Given the description of an element on the screen output the (x, y) to click on. 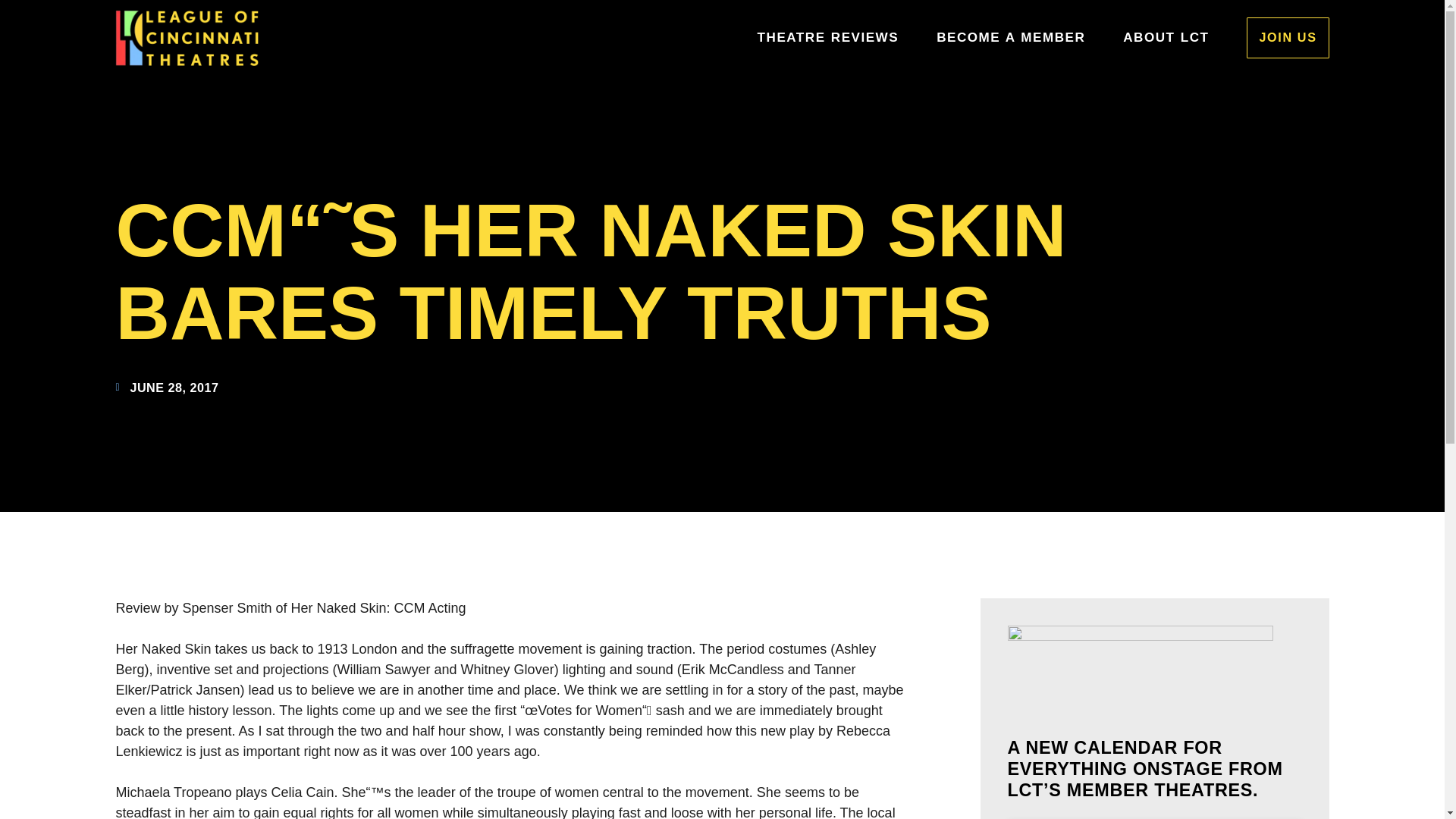
JOIN US (1286, 37)
JUNE 28, 2017 (166, 387)
THEATRE REVIEWS (828, 37)
BECOME A MEMBER (1010, 37)
ABOUT LCT (1165, 37)
